Given the description of an element on the screen output the (x, y) to click on. 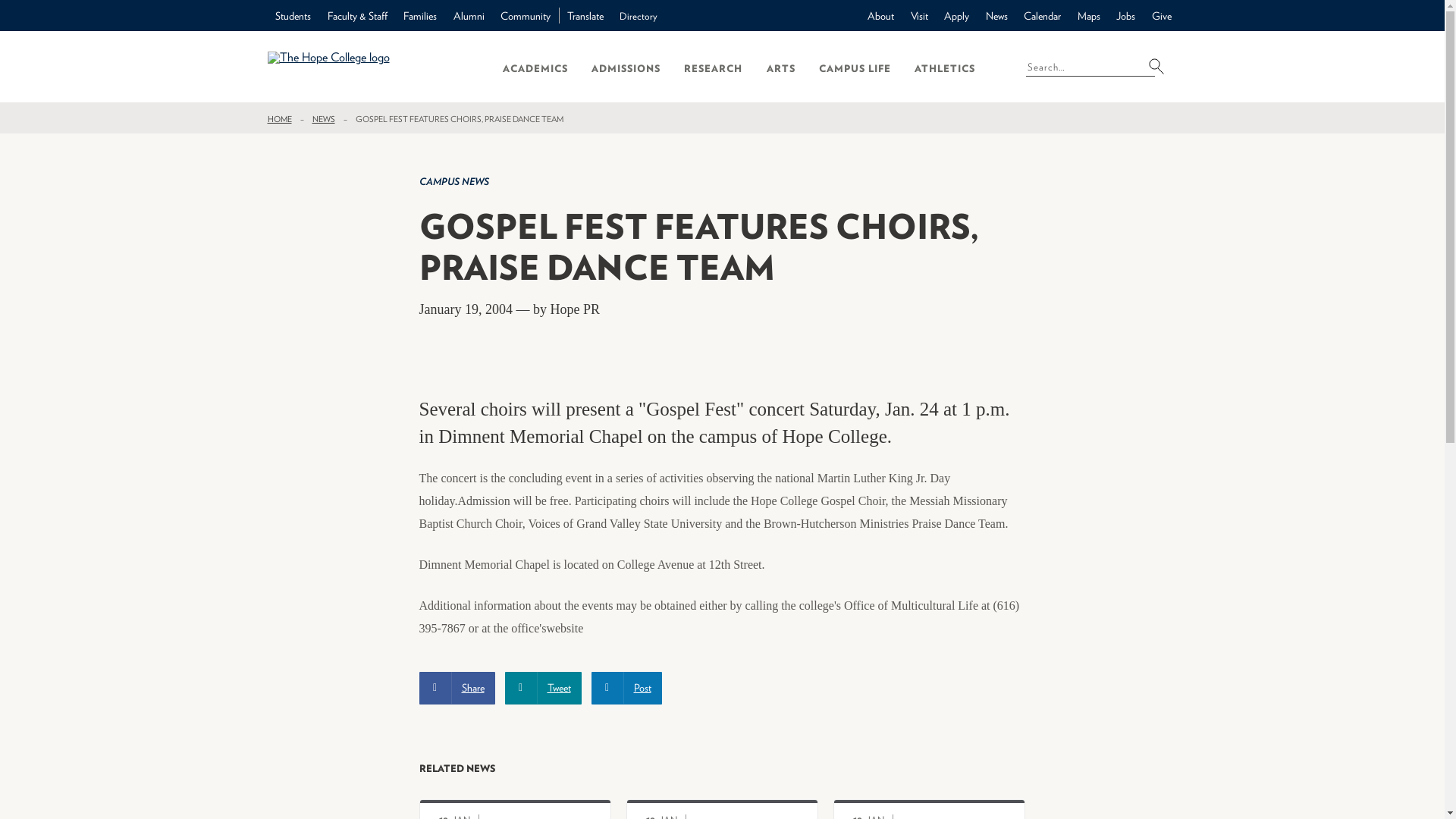
SEARCH (1161, 65)
January (874, 814)
RESEARCH (713, 66)
January (460, 814)
ADMISSIONS (625, 66)
January (668, 814)
ACADEMICS (535, 66)
